Given the description of an element on the screen output the (x, y) to click on. 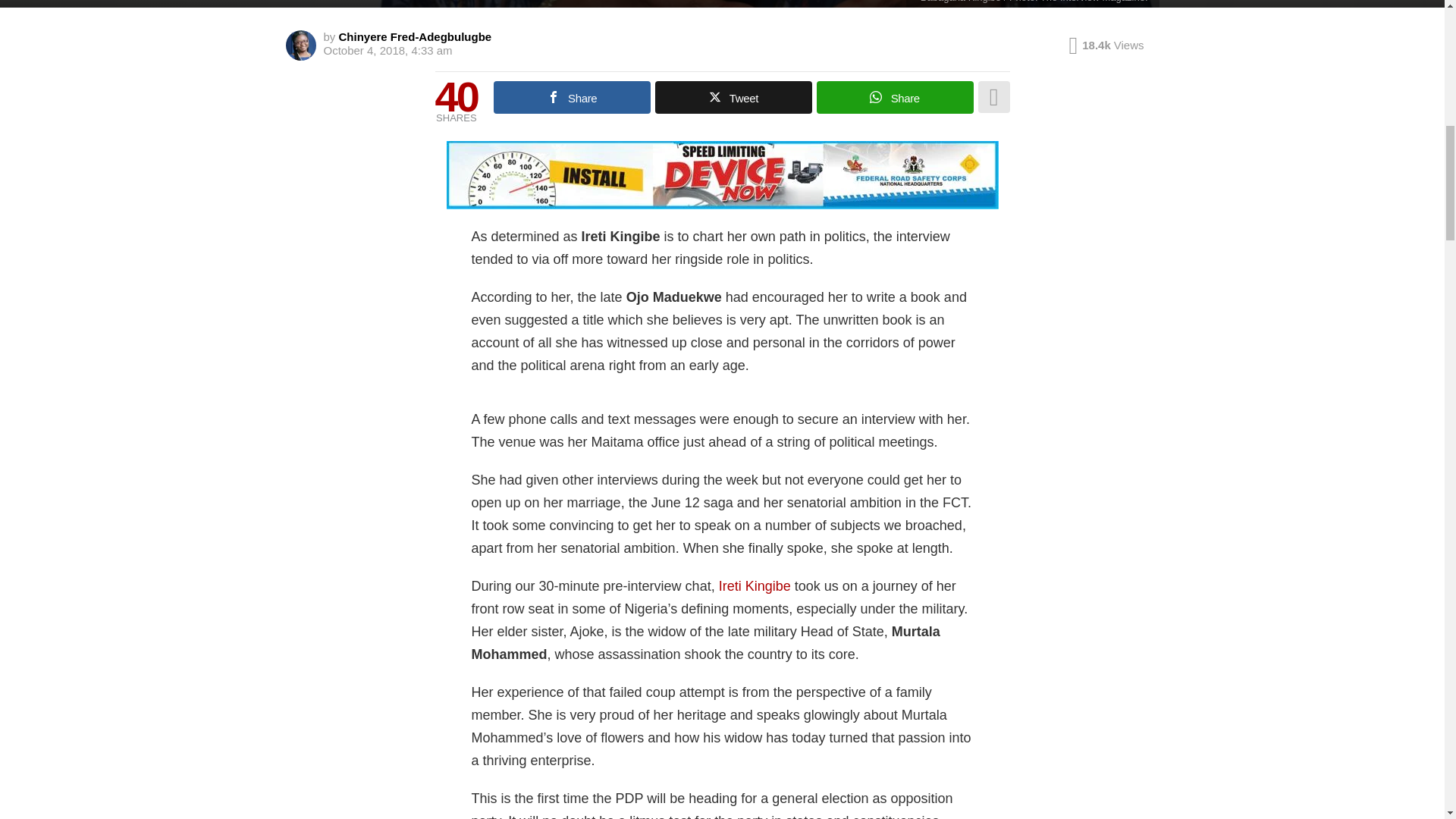
Tweet (733, 97)
Ireti Kingibe (754, 585)
Share (571, 97)
Chinyere Fred-Adegbulugbe (415, 36)
Share (895, 97)
Posts by Chinyere Fred-Adegbulugbe (415, 36)
